Given the description of an element on the screen output the (x, y) to click on. 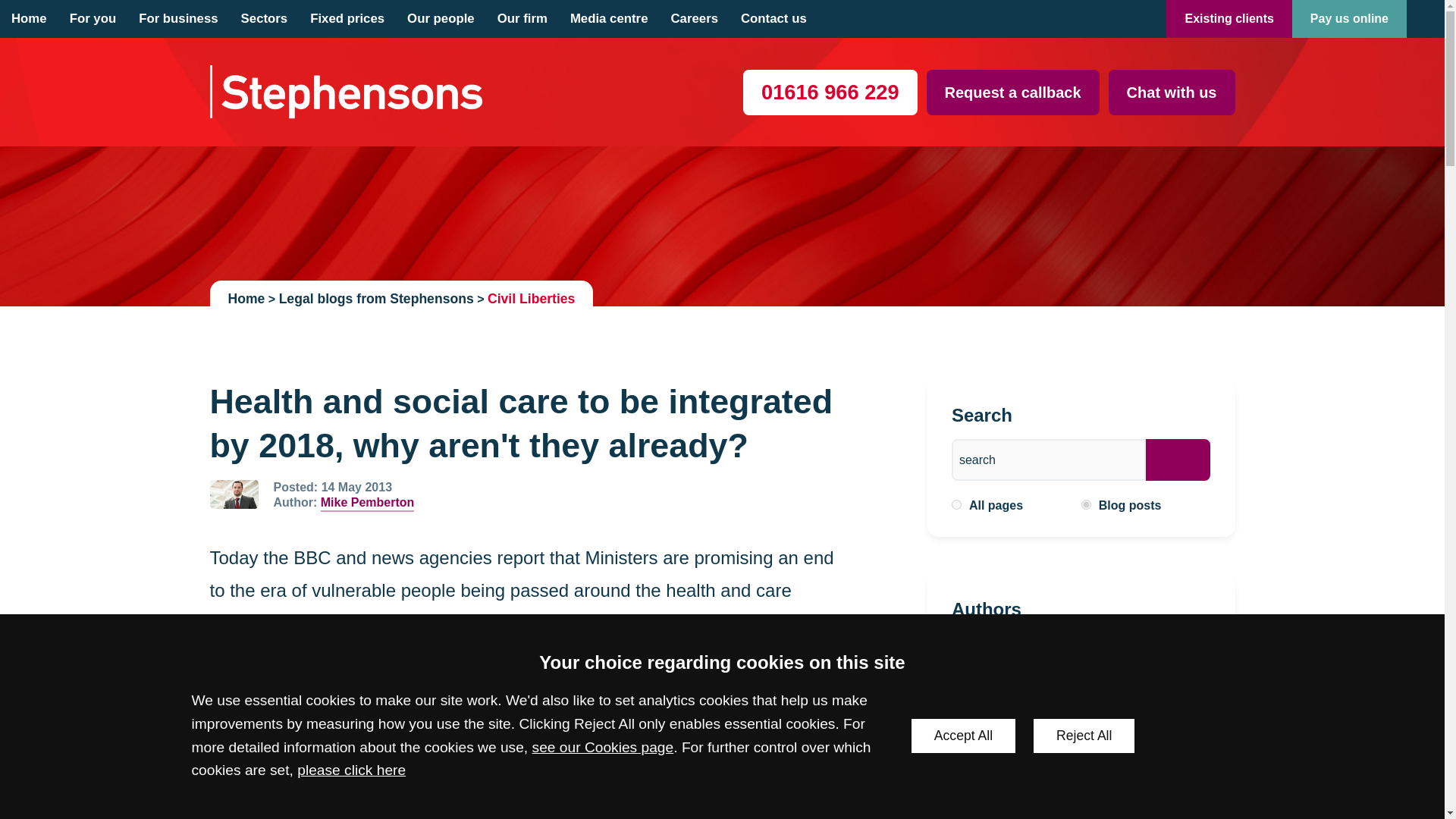
blogs (1085, 504)
Home (29, 18)
search (1048, 459)
For you (93, 18)
For business (178, 18)
View profile for Mike Pemberton (233, 493)
Pay us online (1349, 18)
blogs (1085, 504)
Existing clients (1228, 18)
search (1048, 459)
all pages (956, 504)
all pages (956, 504)
